Given the description of an element on the screen output the (x, y) to click on. 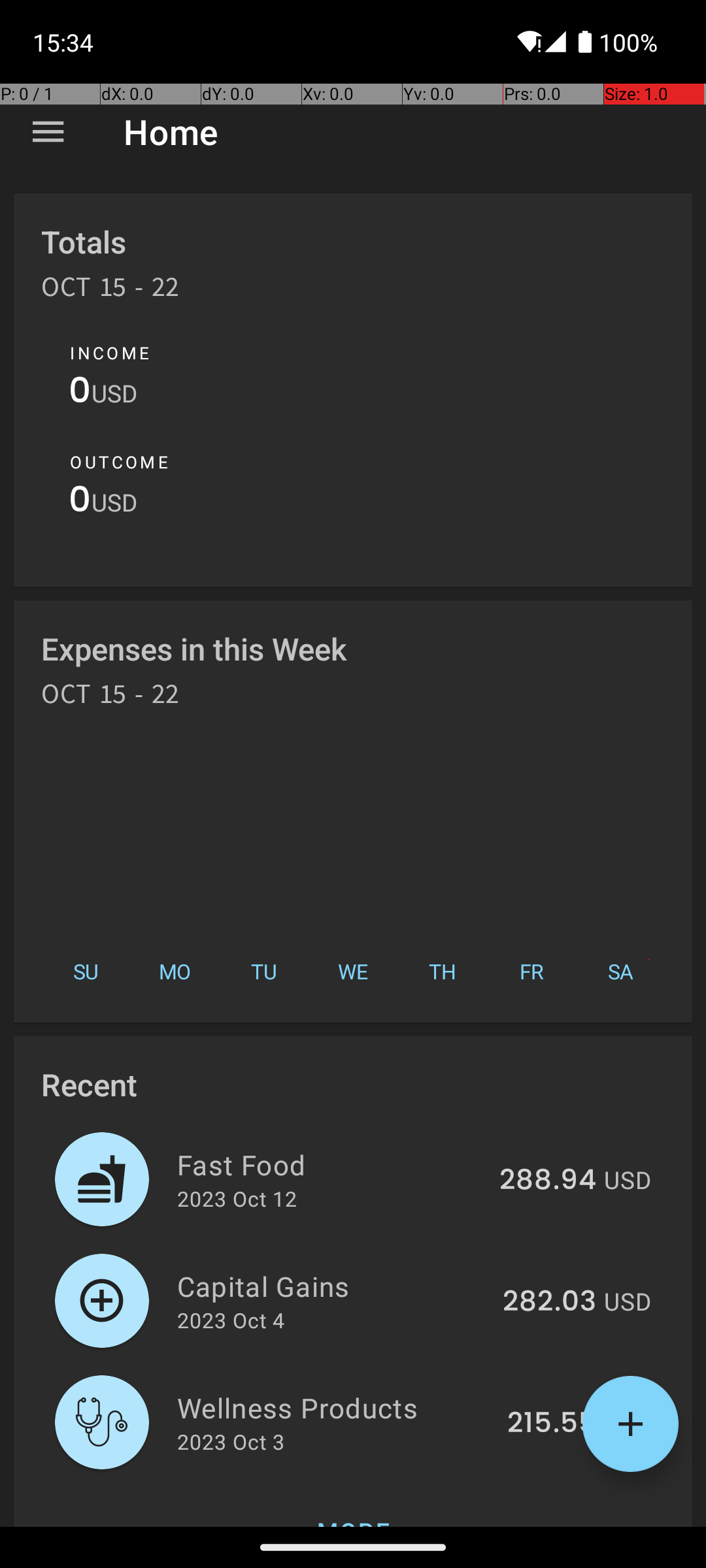
Fast Food Element type: android.widget.TextView (330, 1164)
288.94 Element type: android.widget.TextView (547, 1180)
Capital Gains Element type: android.widget.TextView (332, 1285)
2023 Oct 4 Element type: android.widget.TextView (230, 1320)
282.03 Element type: android.widget.TextView (549, 1301)
2023 Oct 3 Element type: android.widget.TextView (230, 1441)
215.55 Element type: android.widget.TextView (551, 1423)
